Given the description of an element on the screen output the (x, y) to click on. 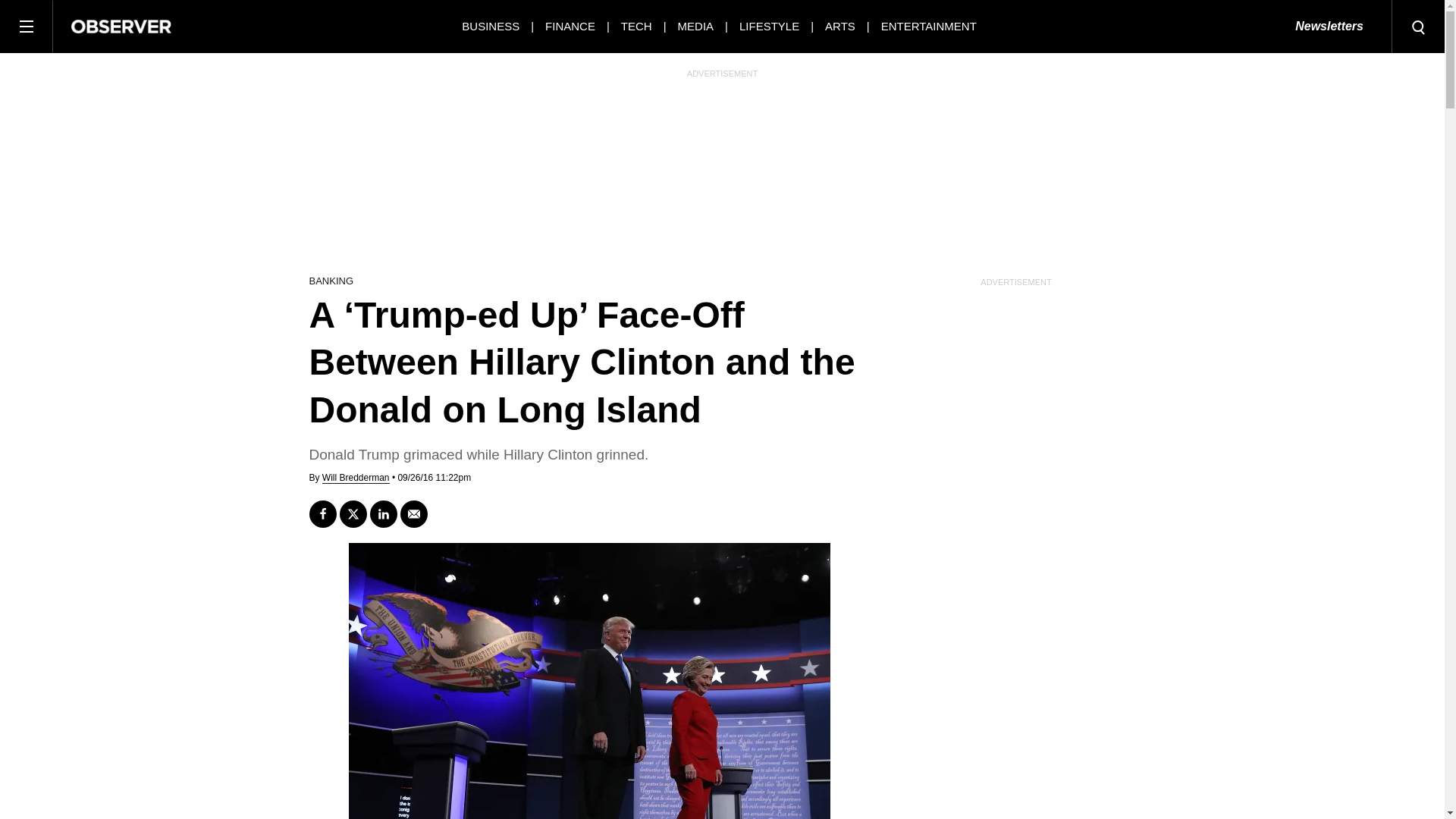
Newsletters (1329, 26)
TECH (636, 25)
ARTS (840, 25)
Observer (121, 26)
LIFESTYLE (769, 25)
View All Posts by Will Bredderman (355, 478)
Tweet (352, 513)
Share on LinkedIn (383, 513)
ENTERTAINMENT (928, 25)
MEDIA (696, 25)
FINANCE (569, 25)
Send email (414, 513)
BUSINESS (490, 25)
Share on Facebook (322, 513)
